Given the description of an element on the screen output the (x, y) to click on. 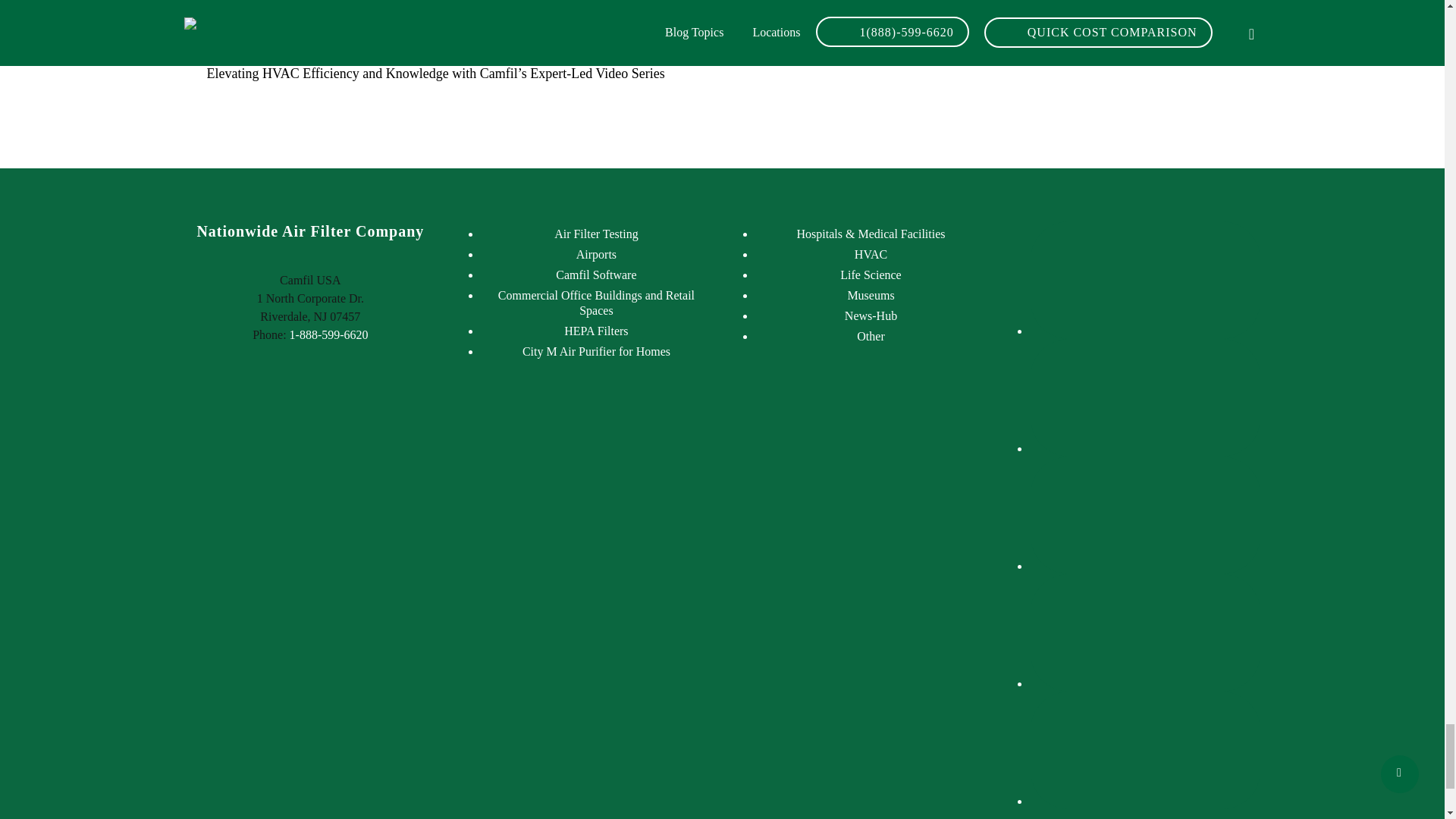
YouTube (1145, 748)
Twitter (1145, 630)
RSS (1145, 513)
LinkedIn (1145, 395)
Facebook (1145, 277)
